Given the description of an element on the screen output the (x, y) to click on. 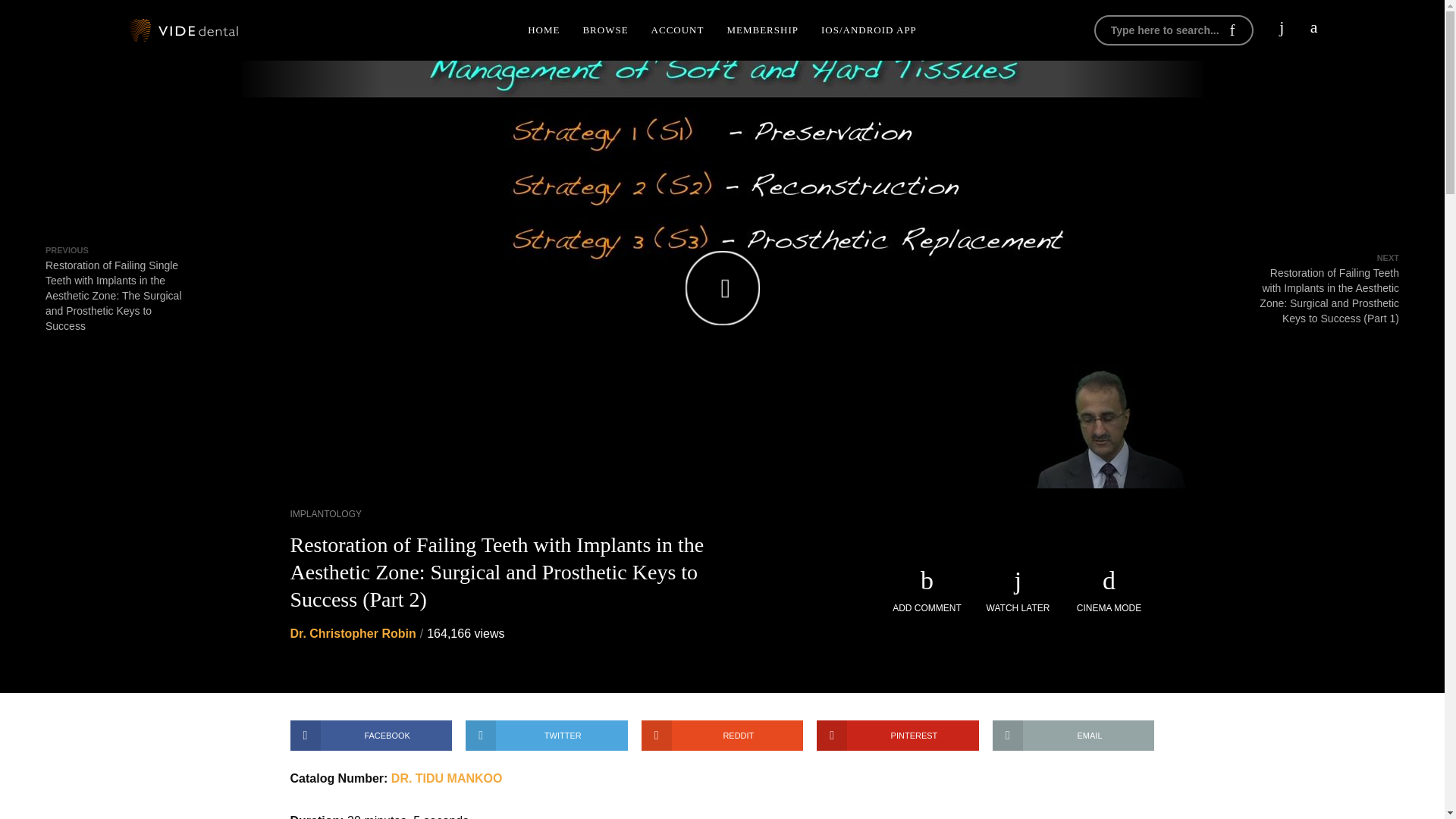
REDDIT (722, 735)
MEMBERSHIP (761, 30)
Dr. Christopher Robin (351, 633)
Log in (1206, 247)
Log in (1206, 168)
WATCH LATER (1017, 590)
ACCOUNT (678, 30)
ADD COMMENT (926, 590)
IMPLANTOLOGY (325, 513)
FACEBOOK (370, 735)
BROWSE (604, 30)
TWITTER (546, 735)
CINEMA MODE (1108, 590)
PINTEREST (897, 735)
